Given the description of an element on the screen output the (x, y) to click on. 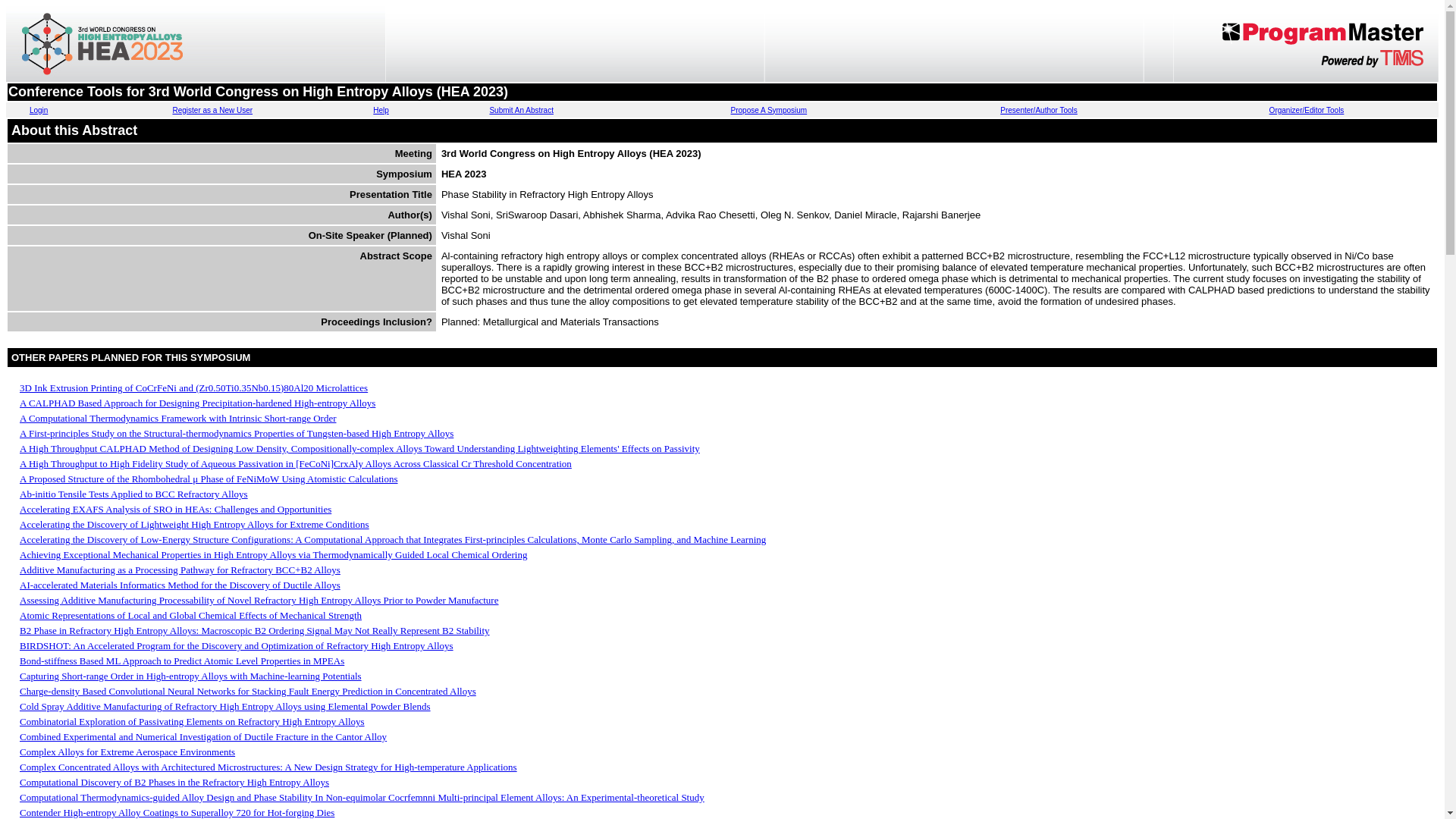
Help (380, 110)
Register as a New User (211, 110)
